Given the description of an element on the screen output the (x, y) to click on. 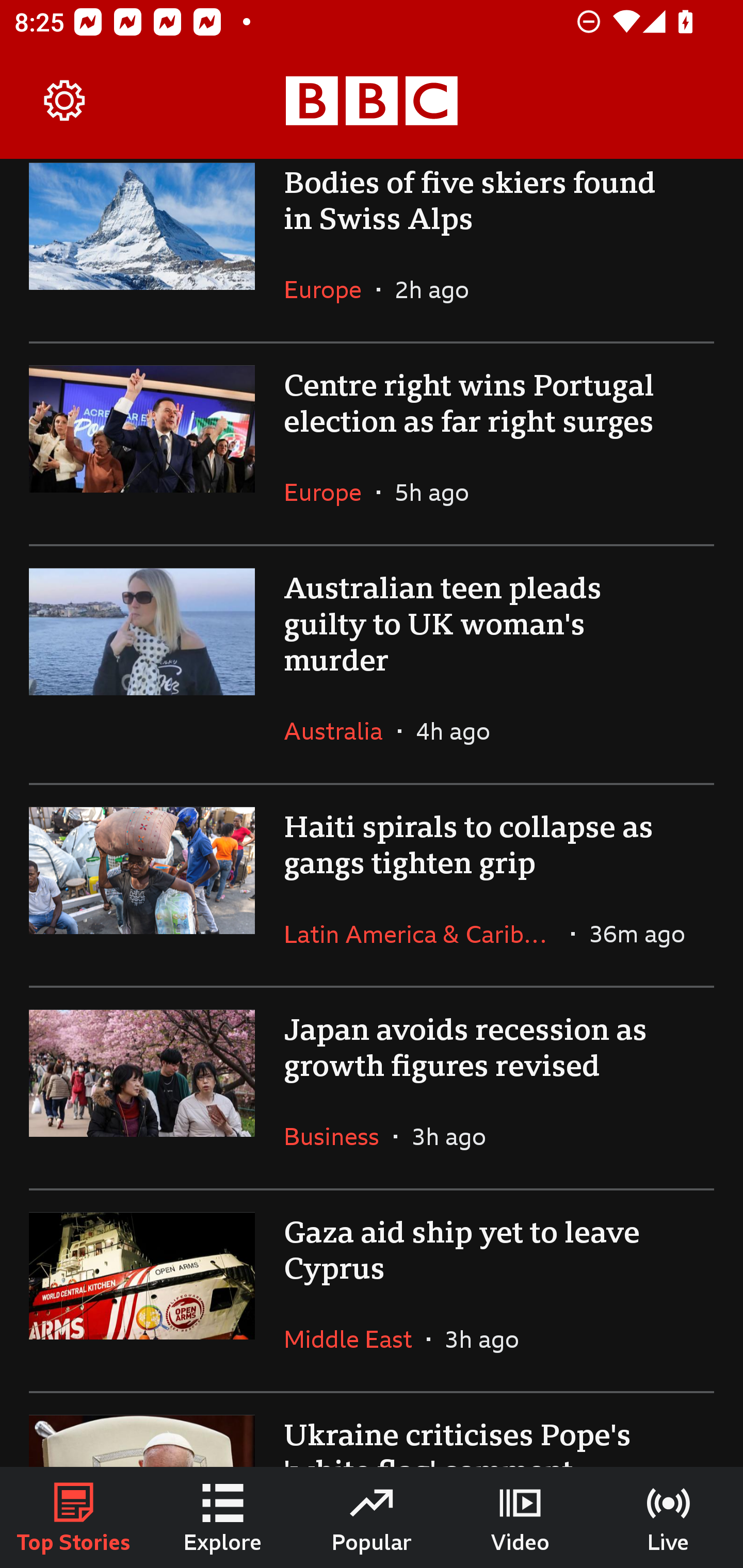
Settings (64, 100)
Europe In the section Europe (329, 288)
Europe In the section Europe (329, 492)
Australia In the section Australia (340, 730)
Business In the section Business (338, 1135)
Middle East In the section Middle East (354, 1338)
Explore (222, 1517)
Popular (371, 1517)
Video (519, 1517)
Live (668, 1517)
